Given the description of an element on the screen output the (x, y) to click on. 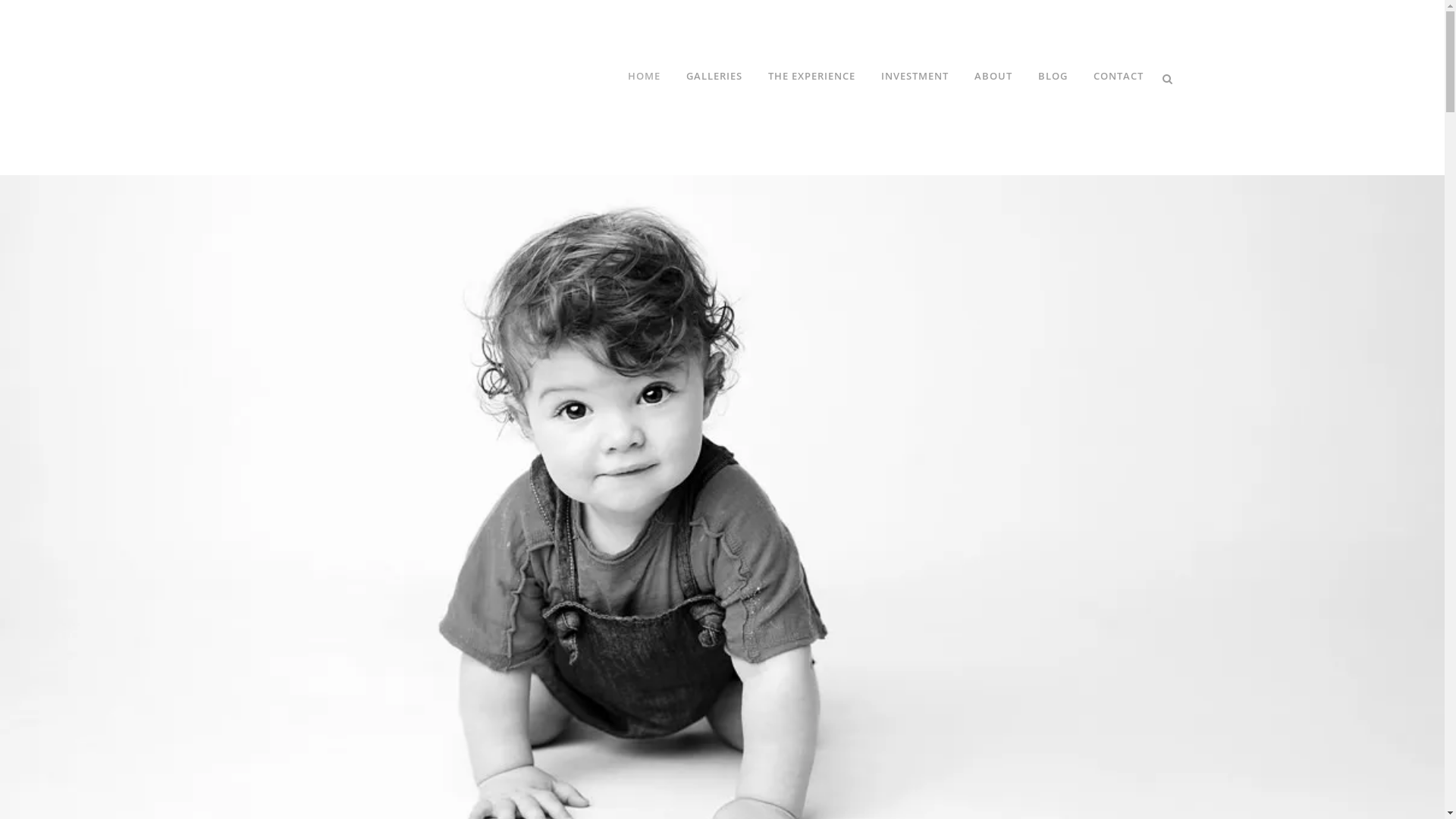
Facebook Element type: hover (345, 428)
BLOG Element type: text (1052, 75)
HOME Element type: text (643, 75)
THE EXPERIENCE Element type: text (811, 75)
CONTACT Element type: text (1117, 75)
GALLERIES Element type: text (714, 75)
Instagram Element type: hover (377, 428)
ABOUT Element type: text (993, 75)
YouTube Element type: hover (441, 428)
Pinterest Element type: hover (409, 428)
INVESTMENT Element type: text (913, 75)
Email Element type: hover (473, 428)
